Given the description of an element on the screen output the (x, y) to click on. 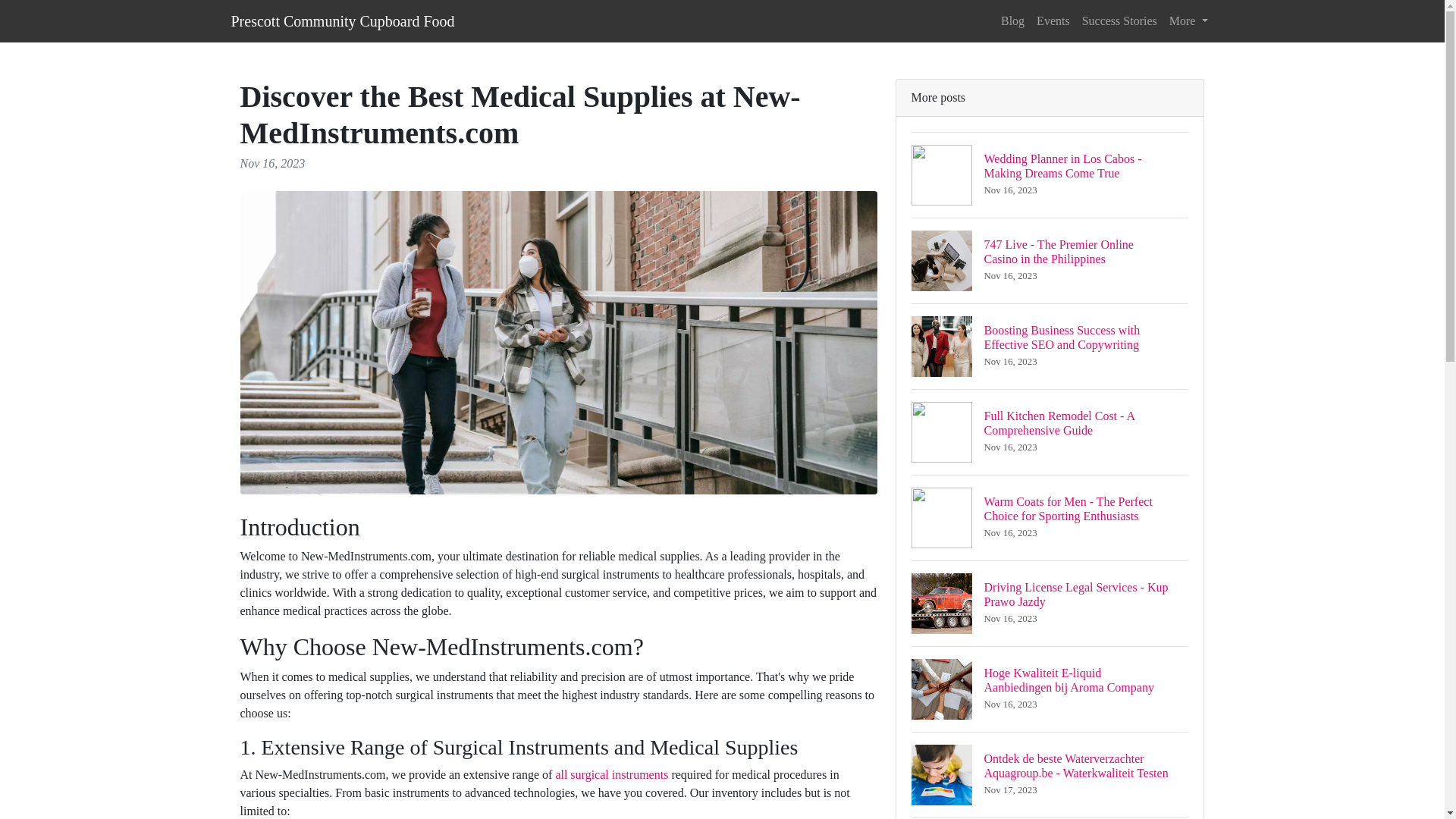
Success Stories (1119, 20)
Blog (1012, 20)
Events (1052, 20)
Prescott Community Cupboard Food (342, 20)
all surgical instruments (611, 774)
More (1188, 20)
